Given the description of an element on the screen output the (x, y) to click on. 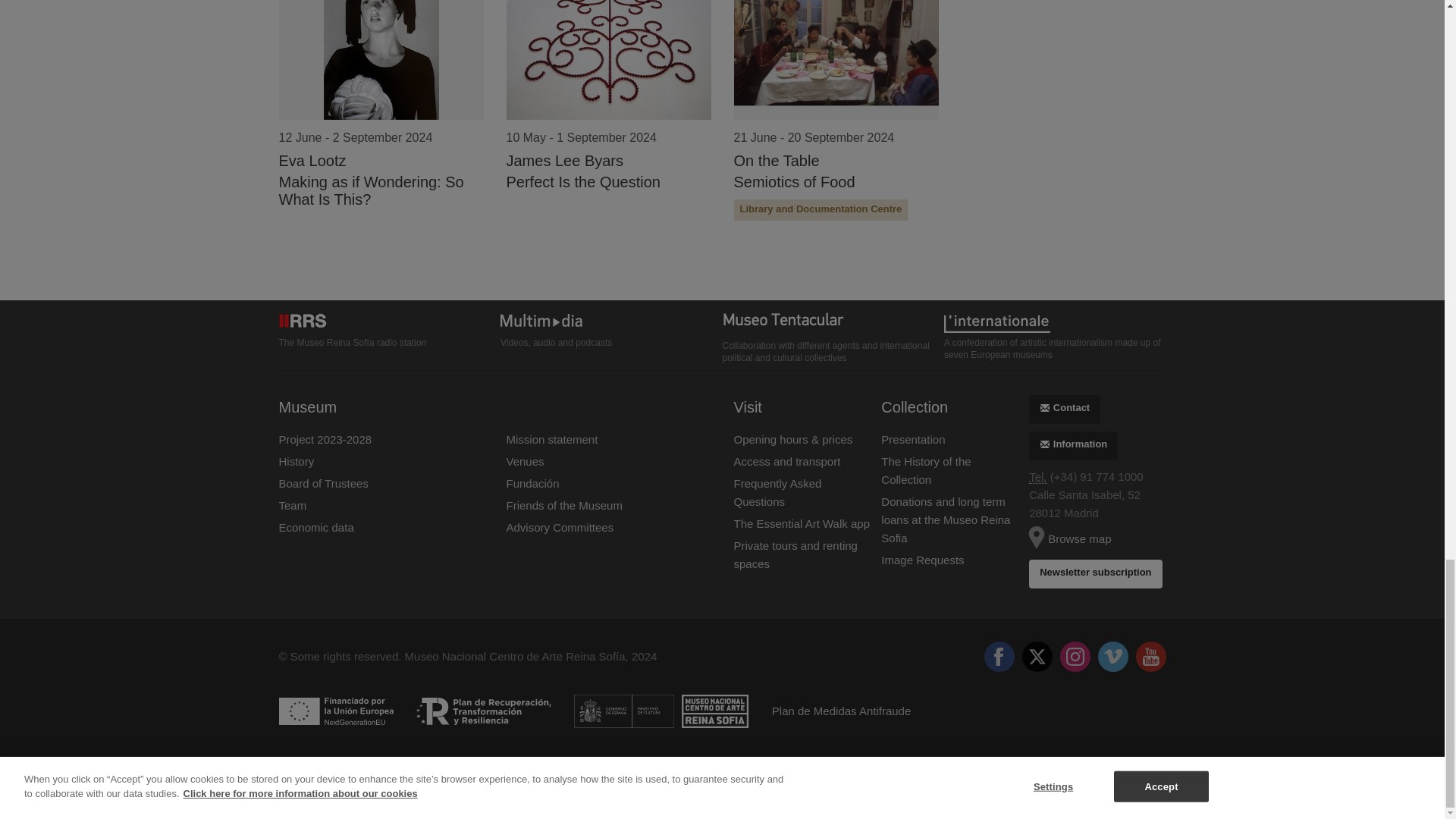
Museo tentacular (832, 323)
Multimedia (611, 322)
Linternationale (1054, 322)
